Given the description of an element on the screen output the (x, y) to click on. 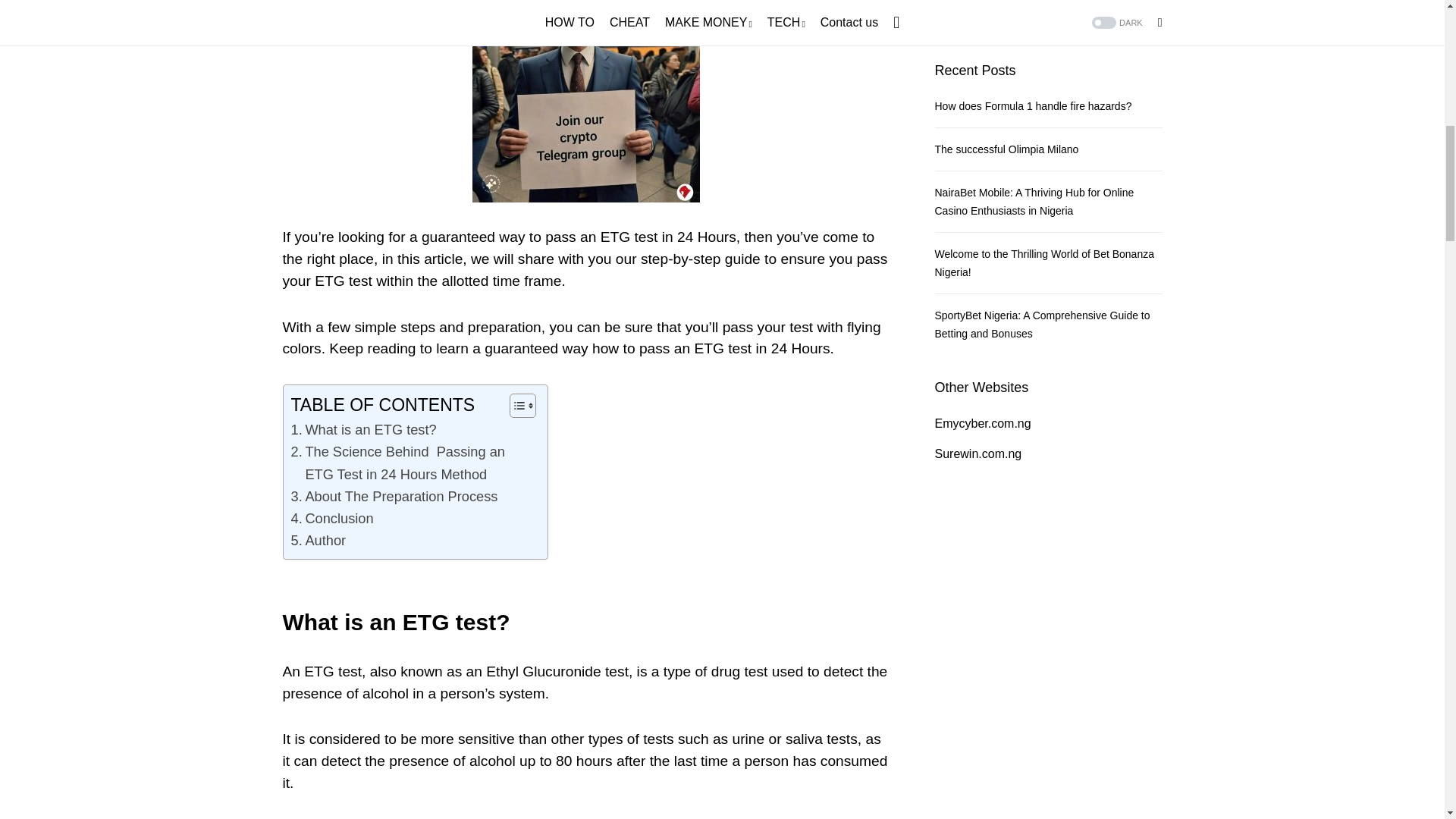
Conclusion (332, 517)
About The Preparation Process (394, 495)
Author (318, 540)
What is an ETG test? (363, 429)
